Given the description of an element on the screen output the (x, y) to click on. 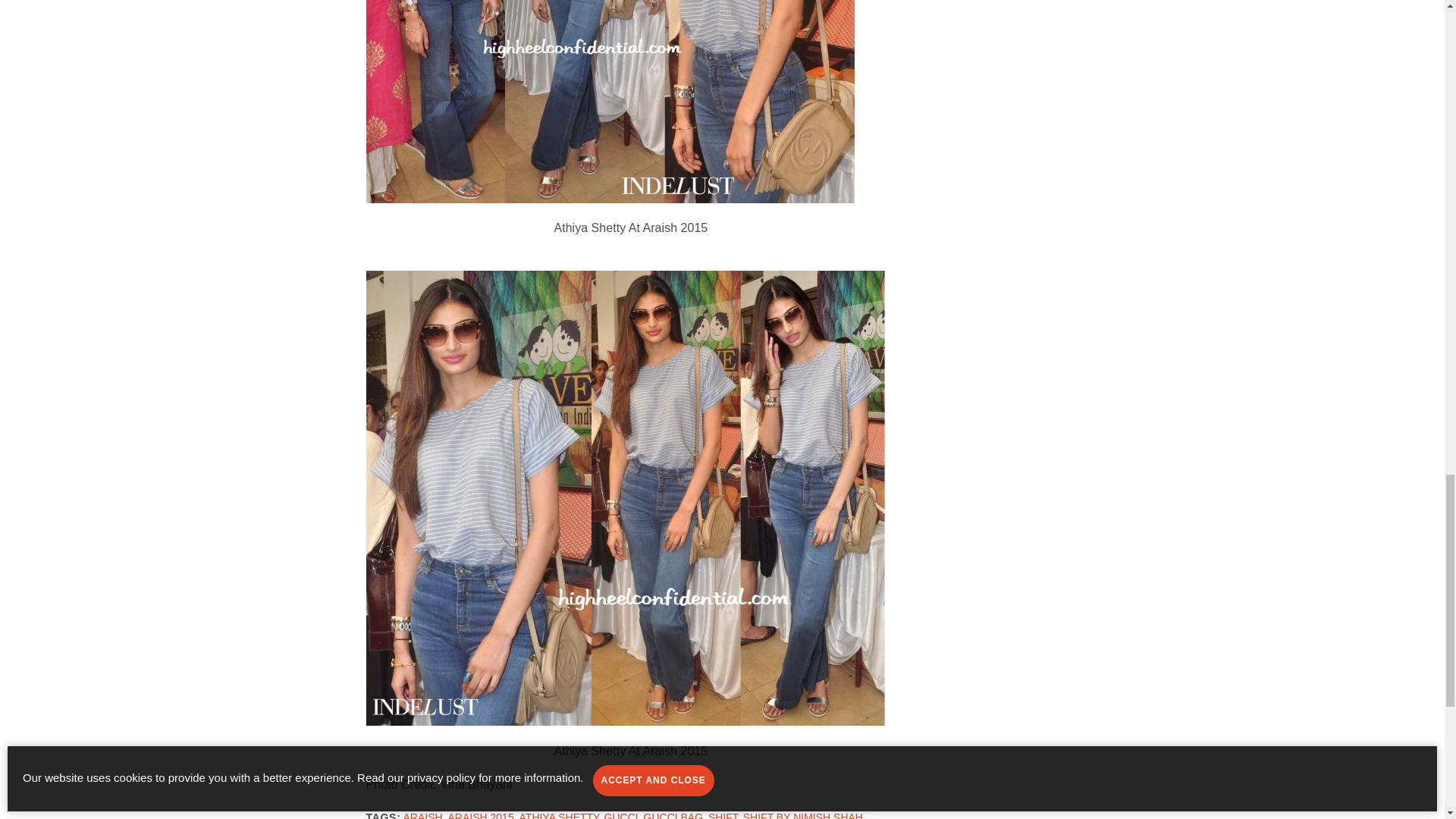
ARAISH, (424, 815)
ARAISH 2015, (482, 815)
GUCCI BAG, (674, 815)
SHIFT, (724, 815)
GUCCI, (623, 815)
ATHIYA SHETTY, (560, 815)
